Given the description of an element on the screen output the (x, y) to click on. 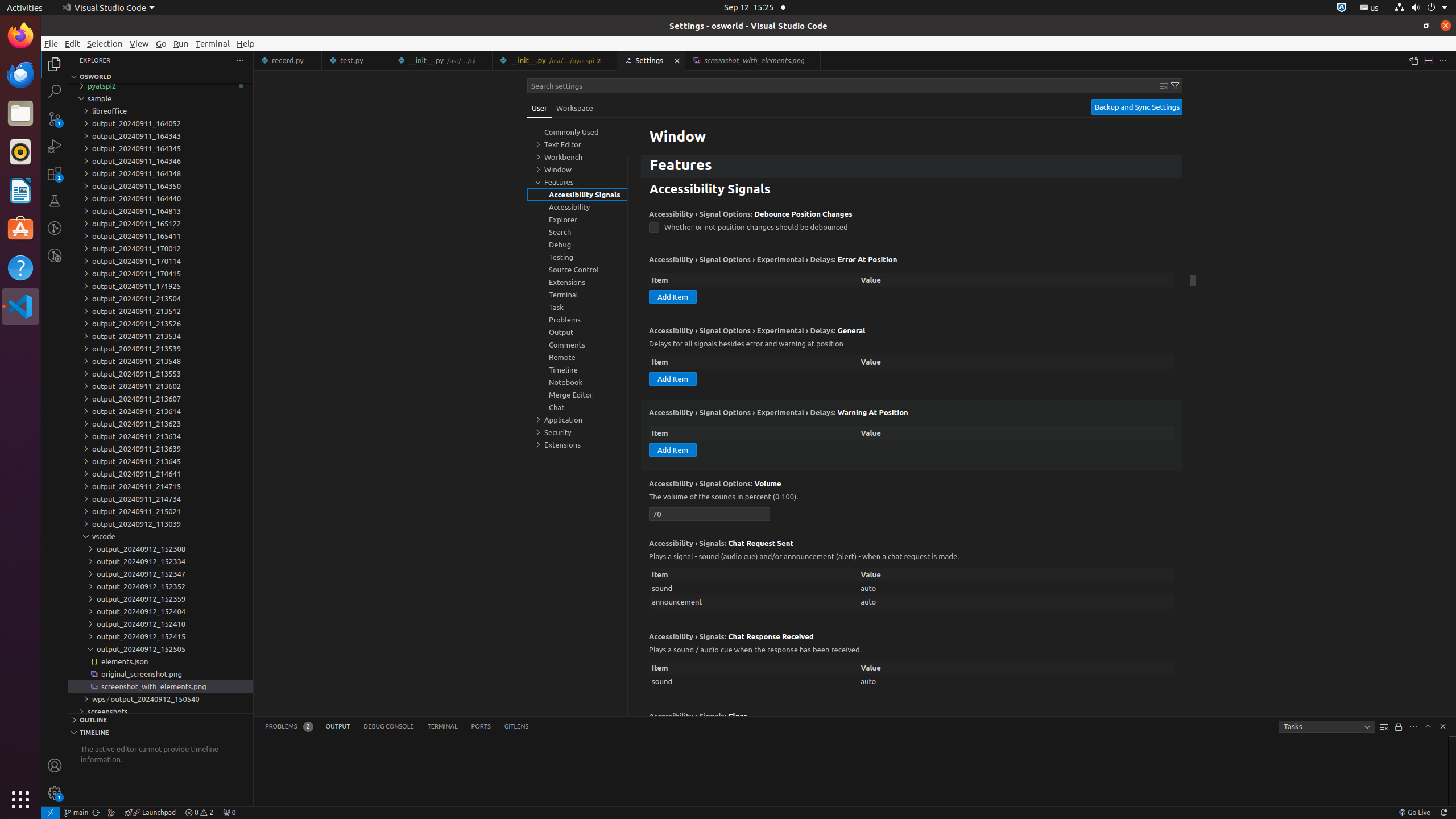
__init__.py Element type: page-tab (554, 60)
Accessibility › Signal Options Debounce Position Changes. Whether or not position changes should be debounced  Element type: tree-item (911, 224)
output_20240911_213607 Element type: tree-item (160, 398)
output_20240911_213539 Element type: tree-item (160, 348)
Open Settings (JSON) Element type: push-button (1413, 60)
